Given the description of an element on the screen output the (x, y) to click on. 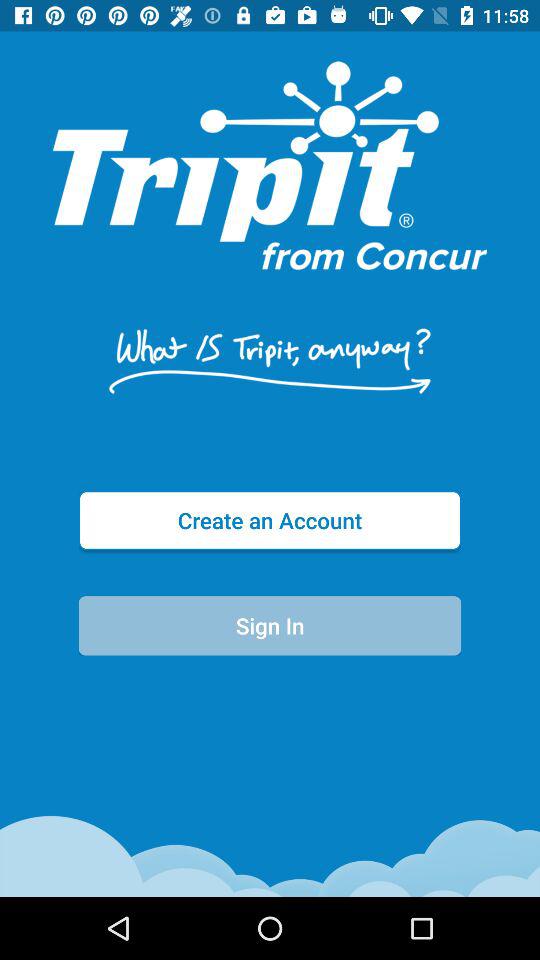
turn on the sign in item (269, 625)
